Given the description of an element on the screen output the (x, y) to click on. 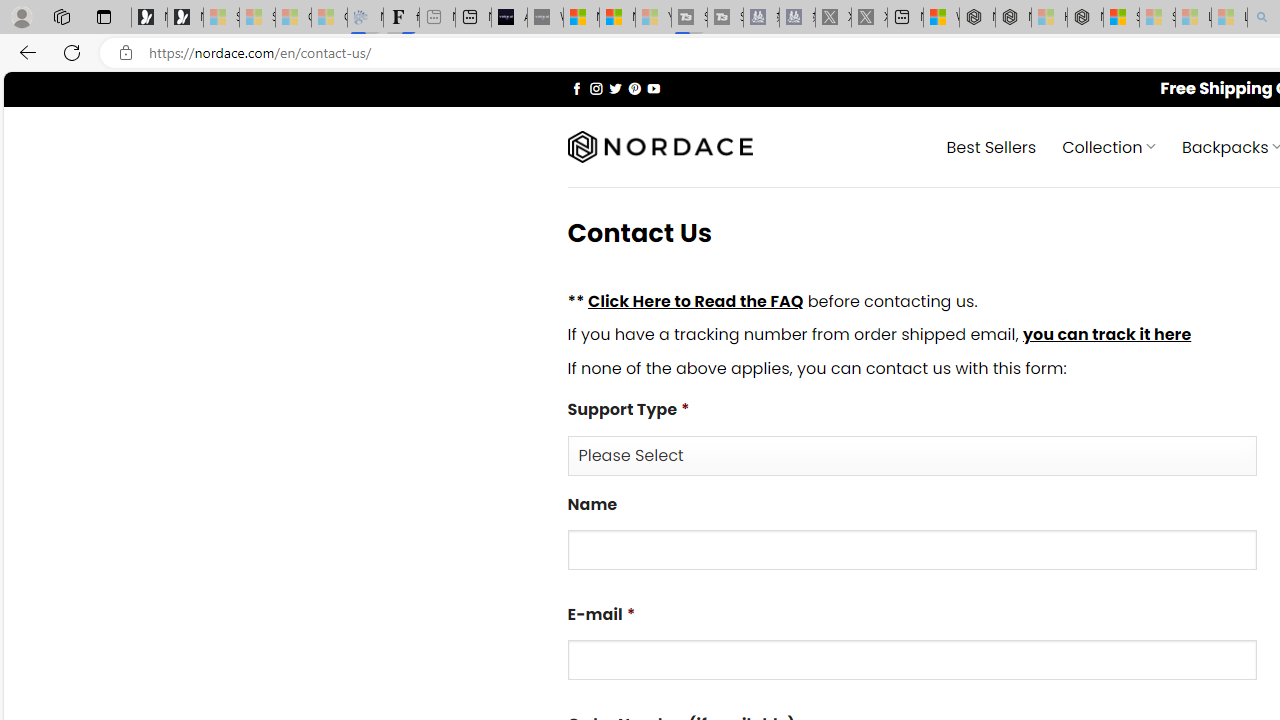
Follow on Facebook (576, 88)
AI Voice Changer for PC and Mac - Voice.ai (509, 17)
Nordace - Nordace Siena Is Not An Ordinary Backpack (1085, 17)
